Given the description of an element on the screen output the (x, y) to click on. 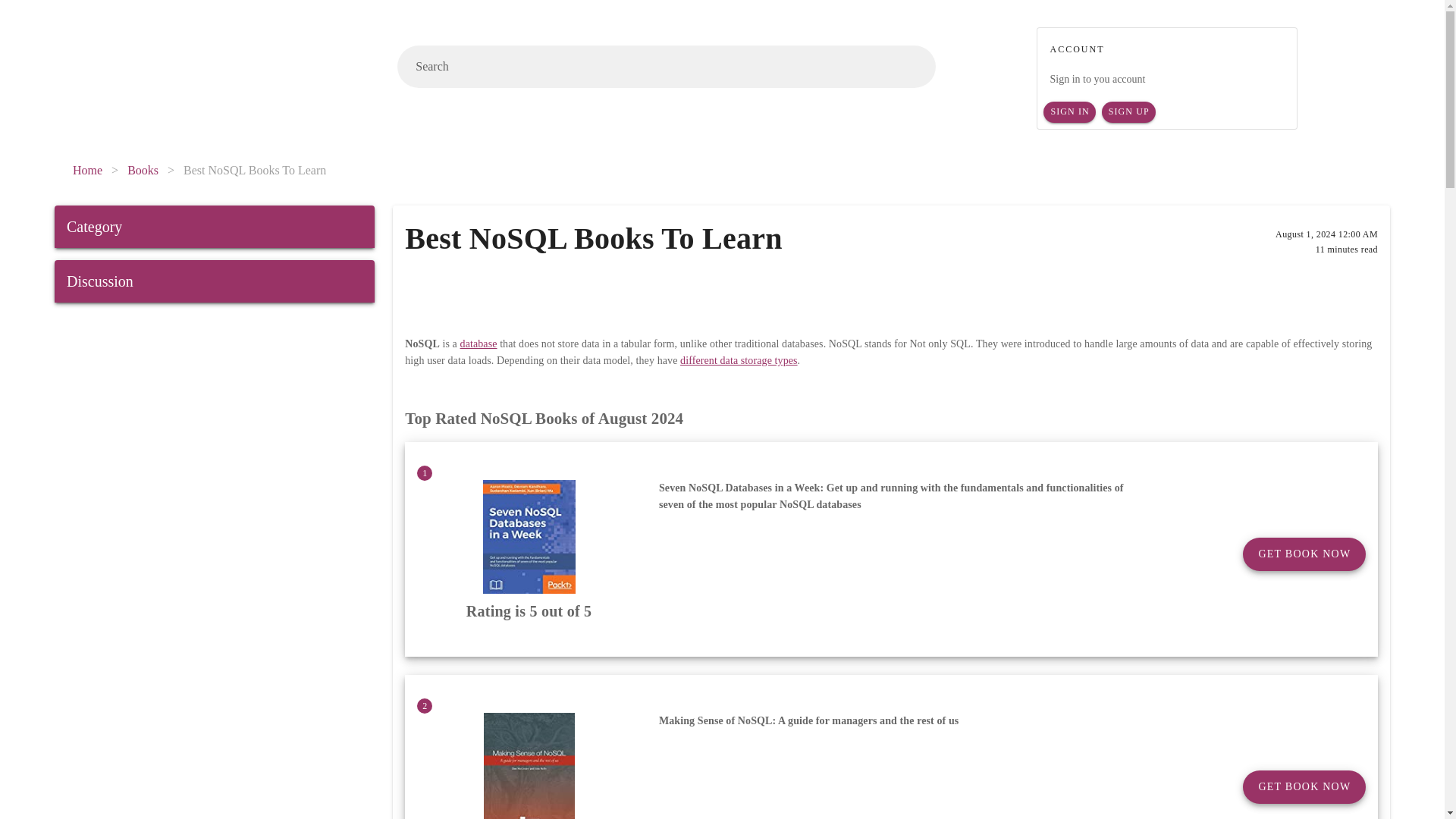
SIGN UP (1129, 111)
Books (143, 170)
database (478, 343)
GET BOOK NOW (1304, 786)
GET BOOK NOW (1304, 553)
different data storage types (738, 360)
SIGN IN (1068, 111)
Home (86, 170)
Best NoSQL Books To Learn (254, 170)
